Given the description of an element on the screen output the (x, y) to click on. 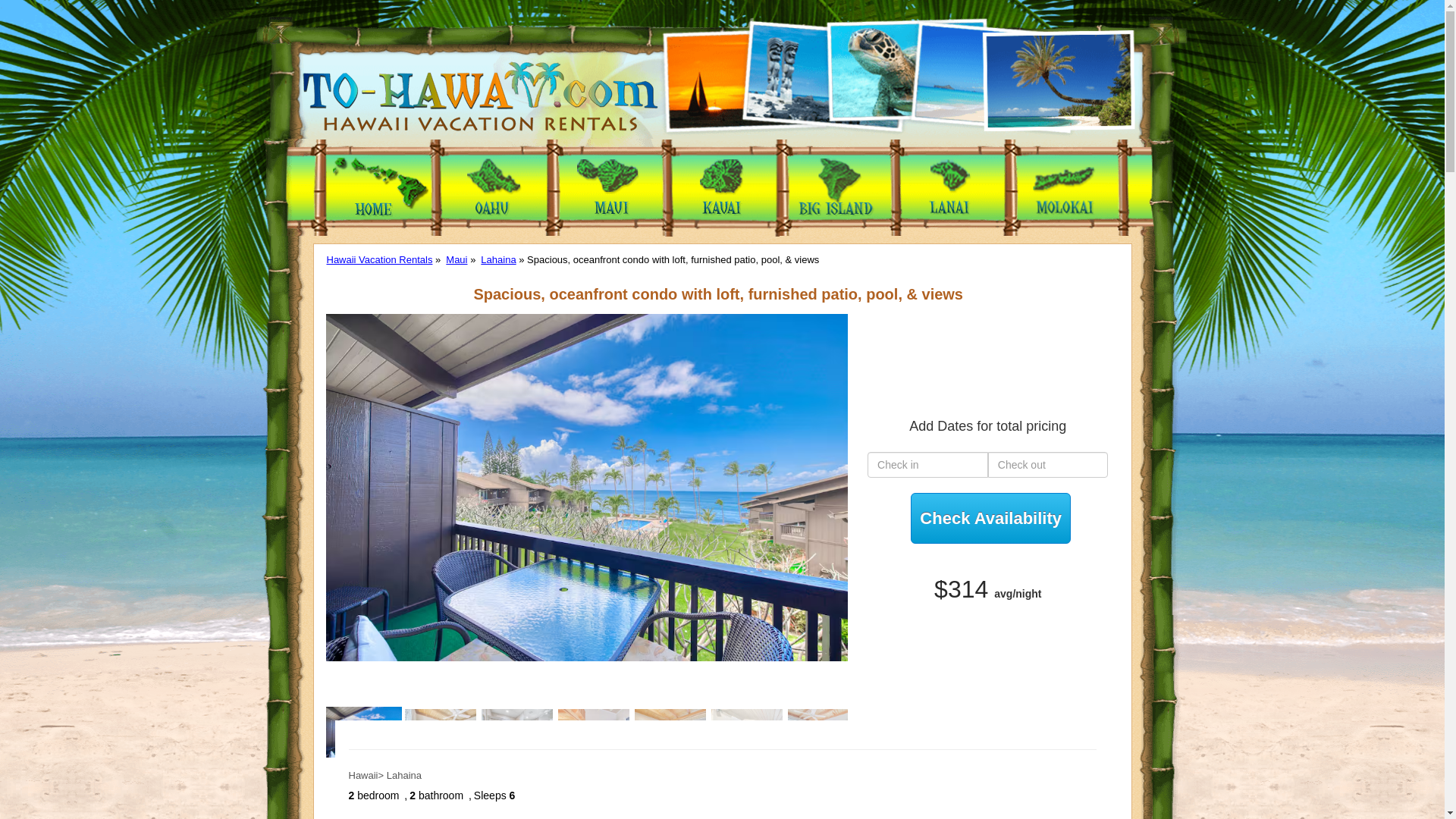
Hawaii Vacation Rentals (379, 259)
Check Availability (990, 518)
Lahaina (497, 259)
Maui (456, 259)
